Given the description of an element on the screen output the (x, y) to click on. 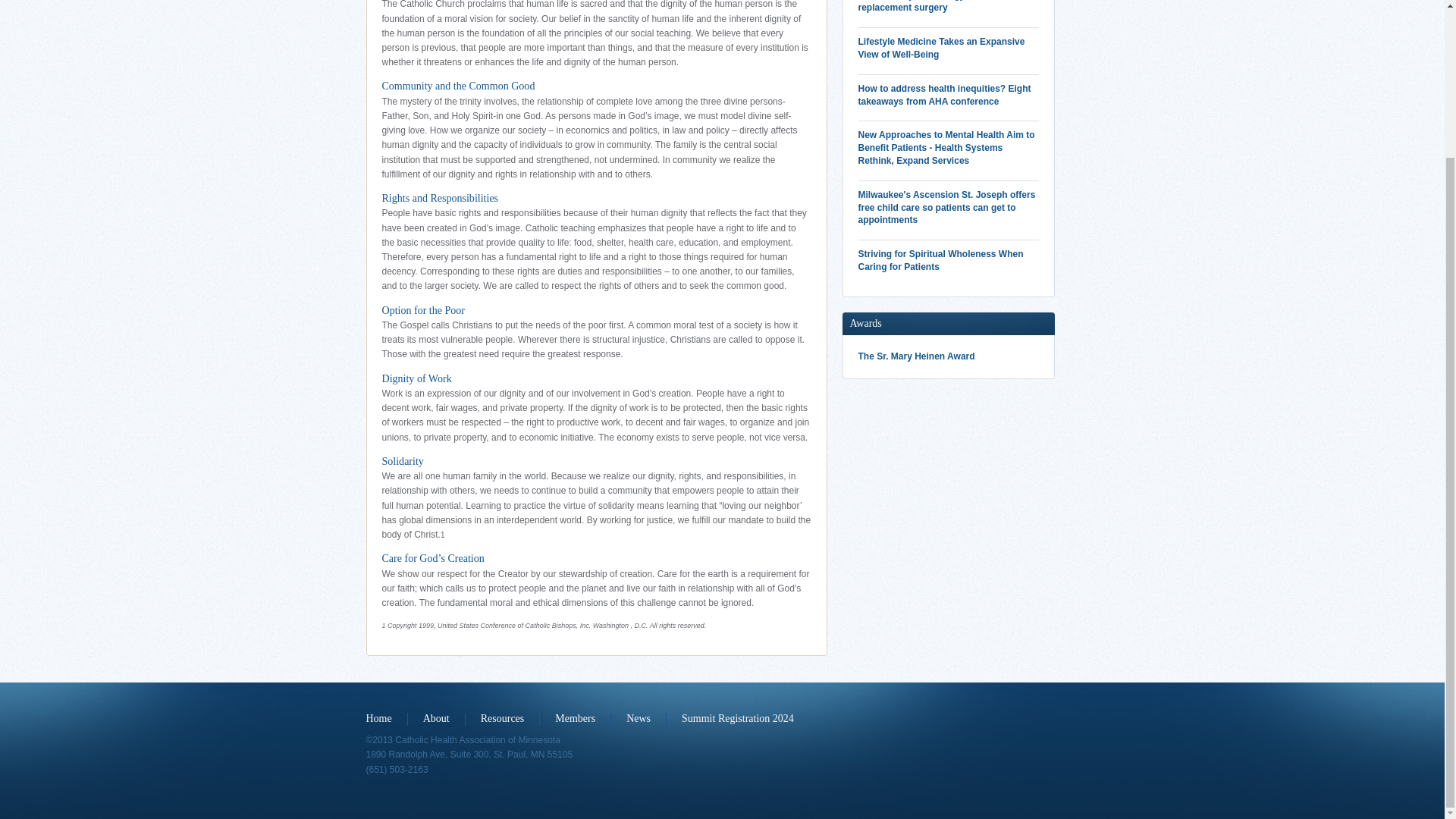
The Sr. Mary Heinen Award (949, 356)
Striving for Spiritual Wholeness When Caring for Patients (949, 260)
About (444, 718)
Resources (510, 718)
Lifestyle Medicine Takes an Expansive View of Well-Being (949, 48)
Home (386, 718)
